Given the description of an element on the screen output the (x, y) to click on. 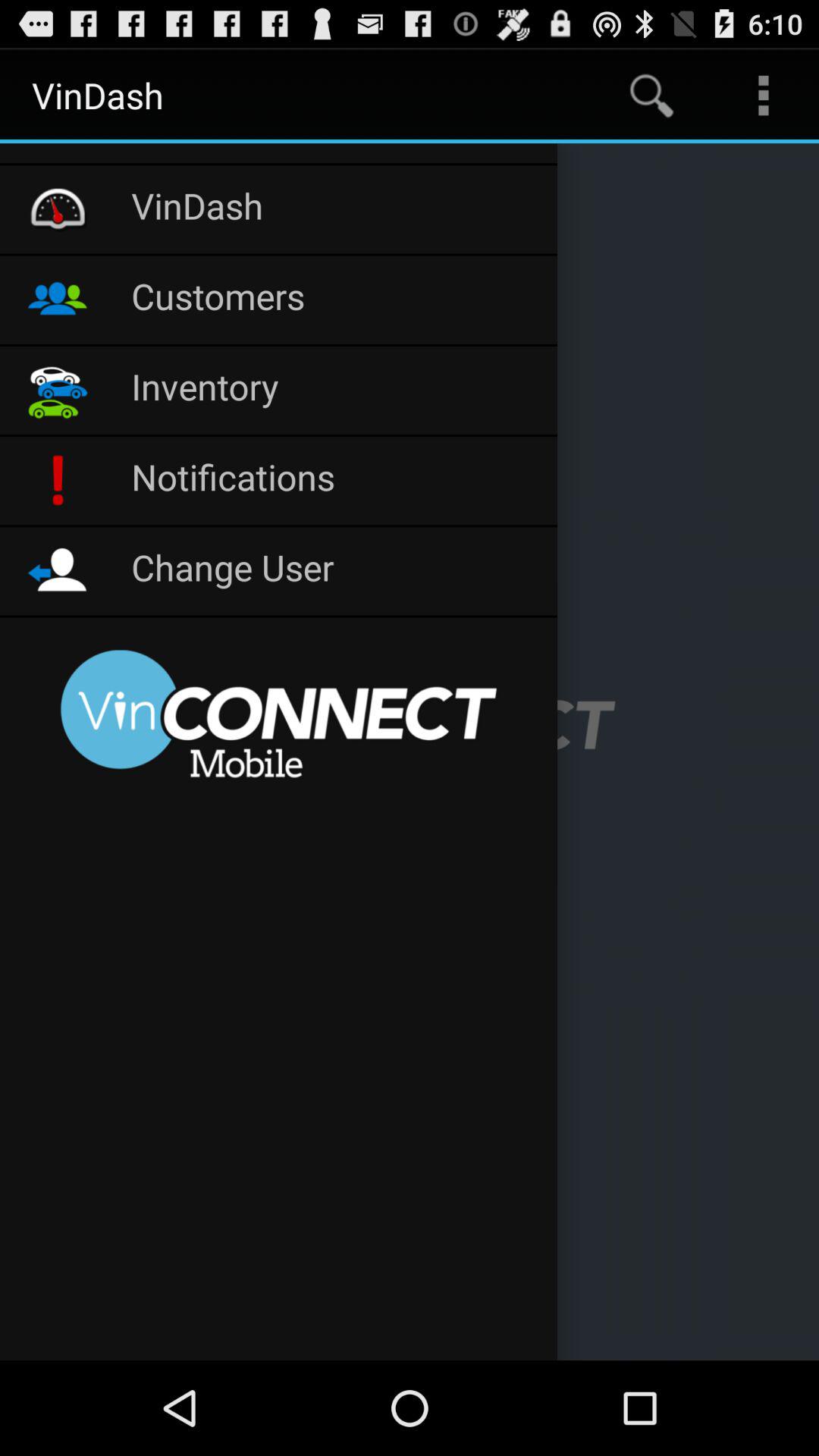
press the app above the vindash icon (278, 153)
